Given the description of an element on the screen output the (x, y) to click on. 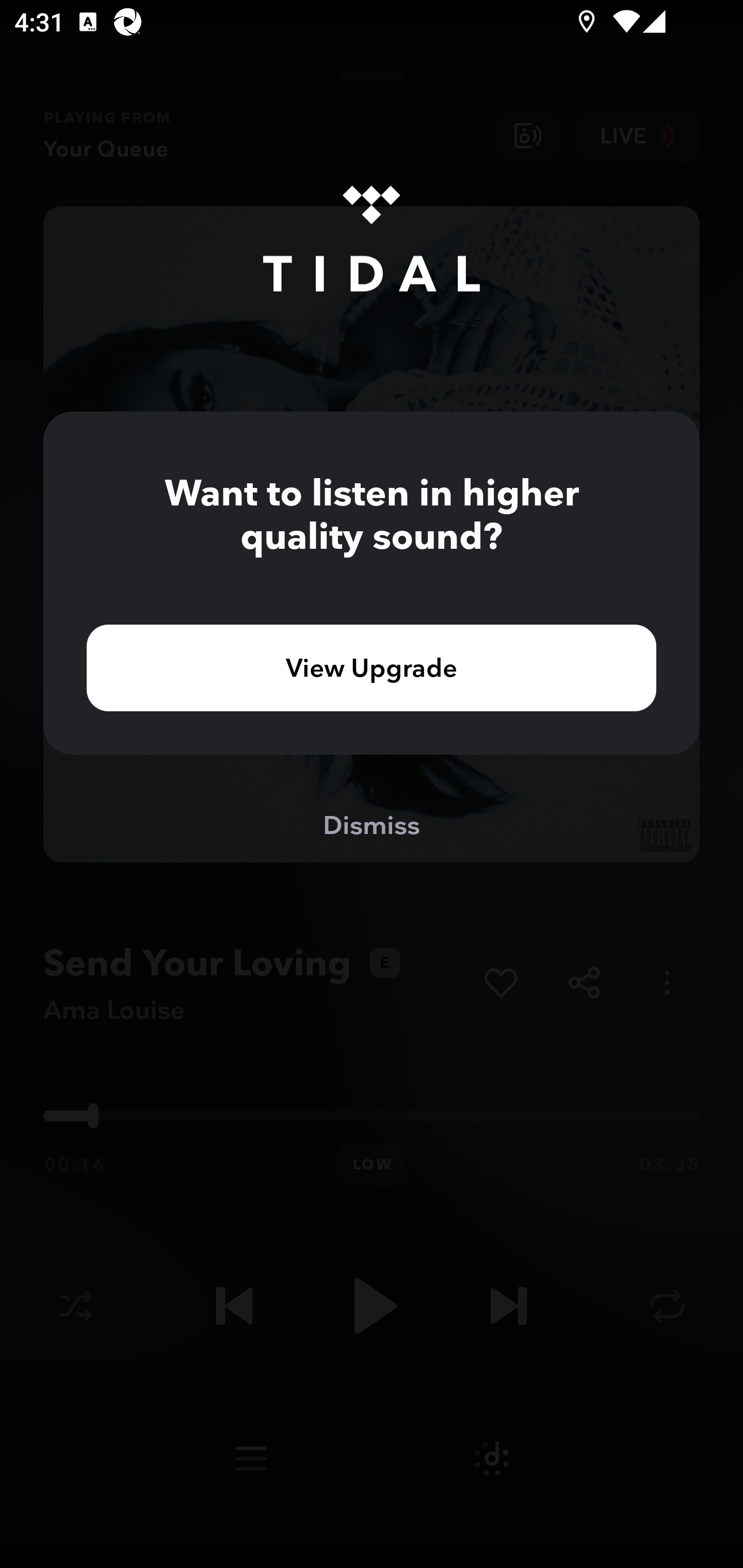
View Upgrade (371, 667)
Dismiss (371, 824)
